Given the description of an element on the screen output the (x, y) to click on. 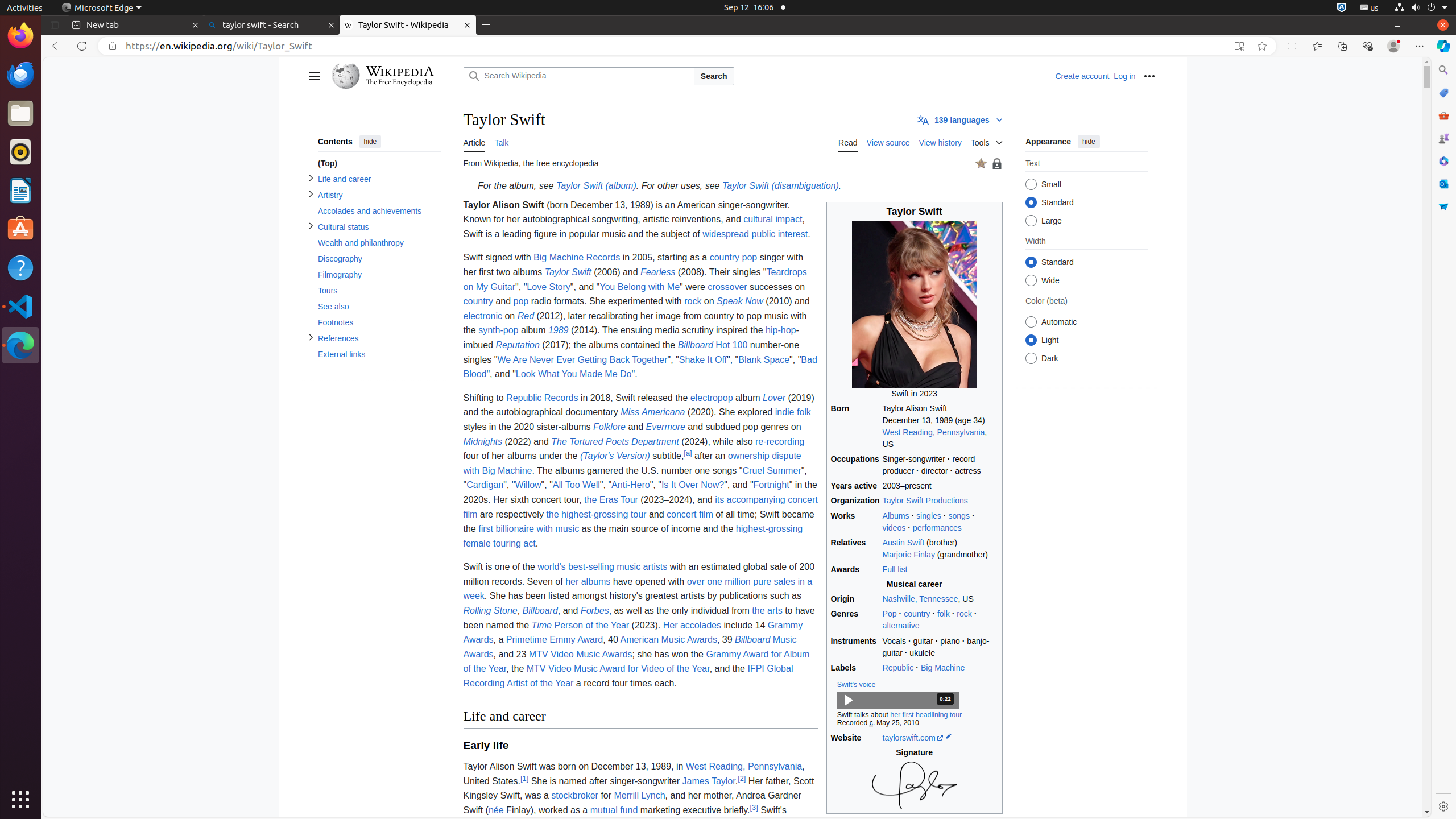
Small Element type: radio-button (1030, 184)
Full list Element type: table-cell (939, 569)
Add this page to favorites (Ctrl+D) Element type: push-button (1261, 46)
Bad Blood Element type: link (639, 366)
Featured article Element type: link (980, 163)
